Given the description of an element on the screen output the (x, y) to click on. 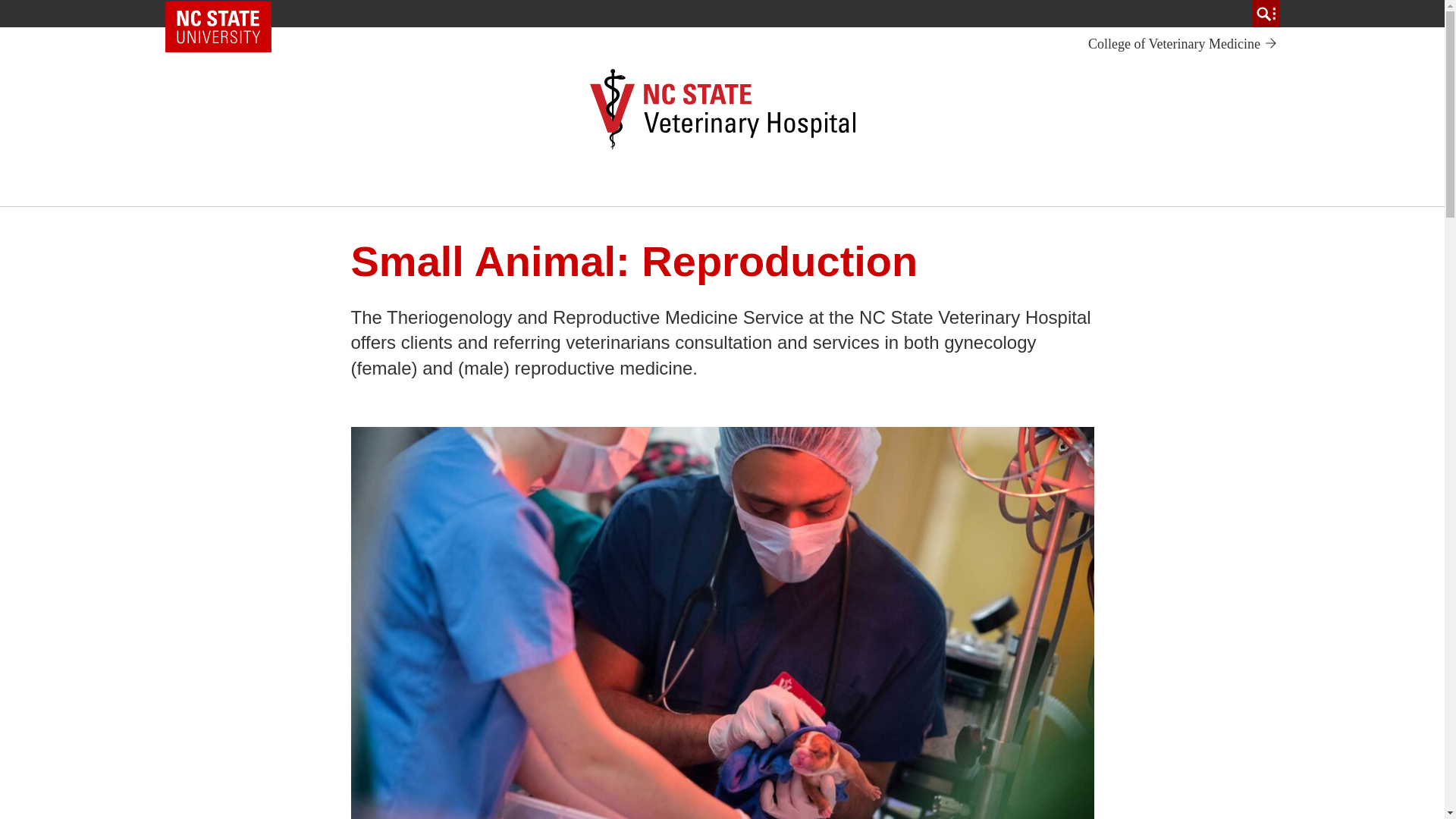
NC State Home (1182, 44)
